Given the description of an element on the screen output the (x, y) to click on. 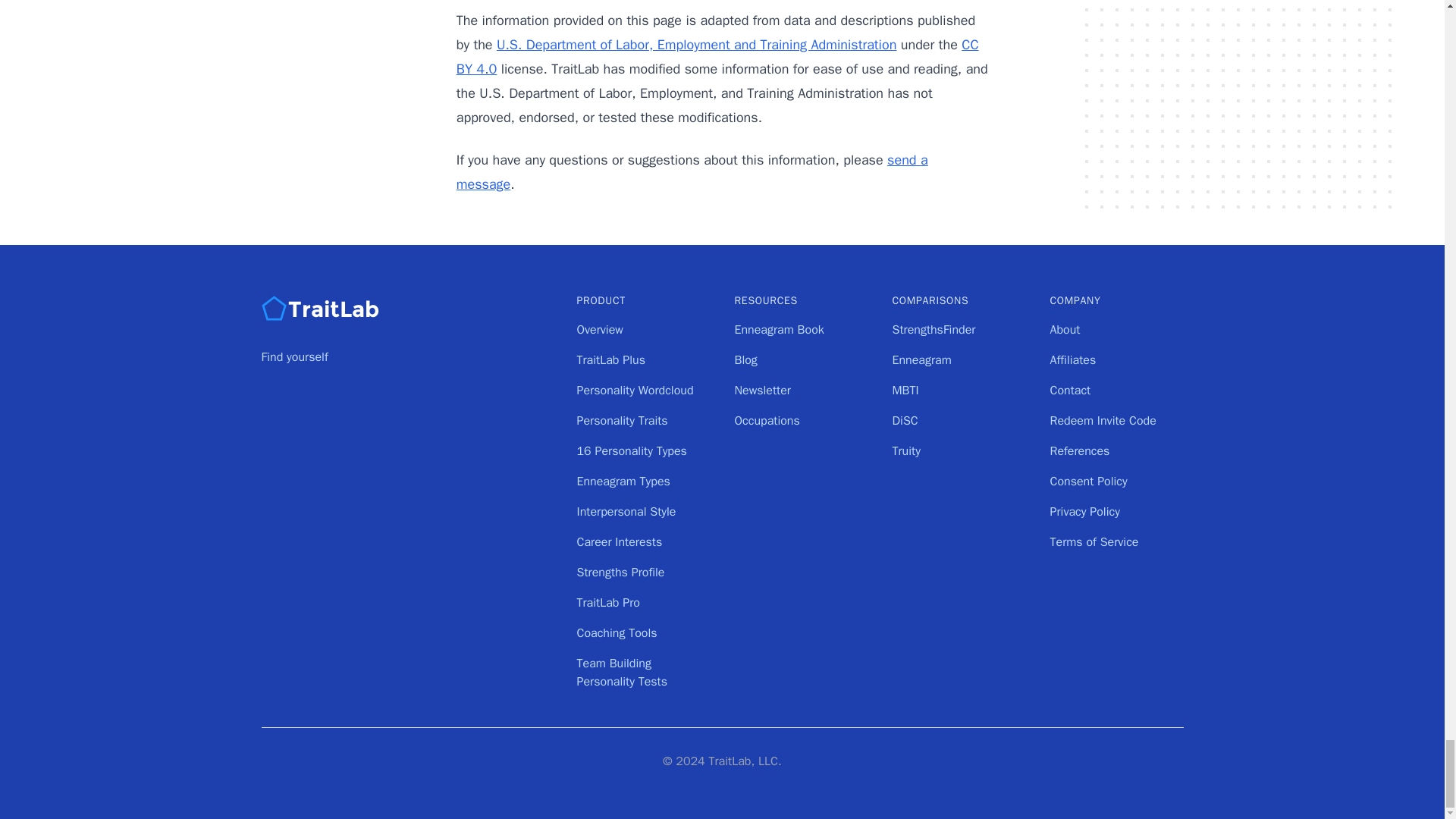
Interpersonal Style (625, 511)
Enneagram Types (622, 481)
Personality Wordcloud (634, 390)
CC BY 4.0 (717, 56)
Overview (599, 329)
TraitLab Plus (610, 359)
send a message (692, 171)
Career Interests (619, 541)
16 Personality Types (630, 450)
Personality Traits (621, 420)
